Given the description of an element on the screen output the (x, y) to click on. 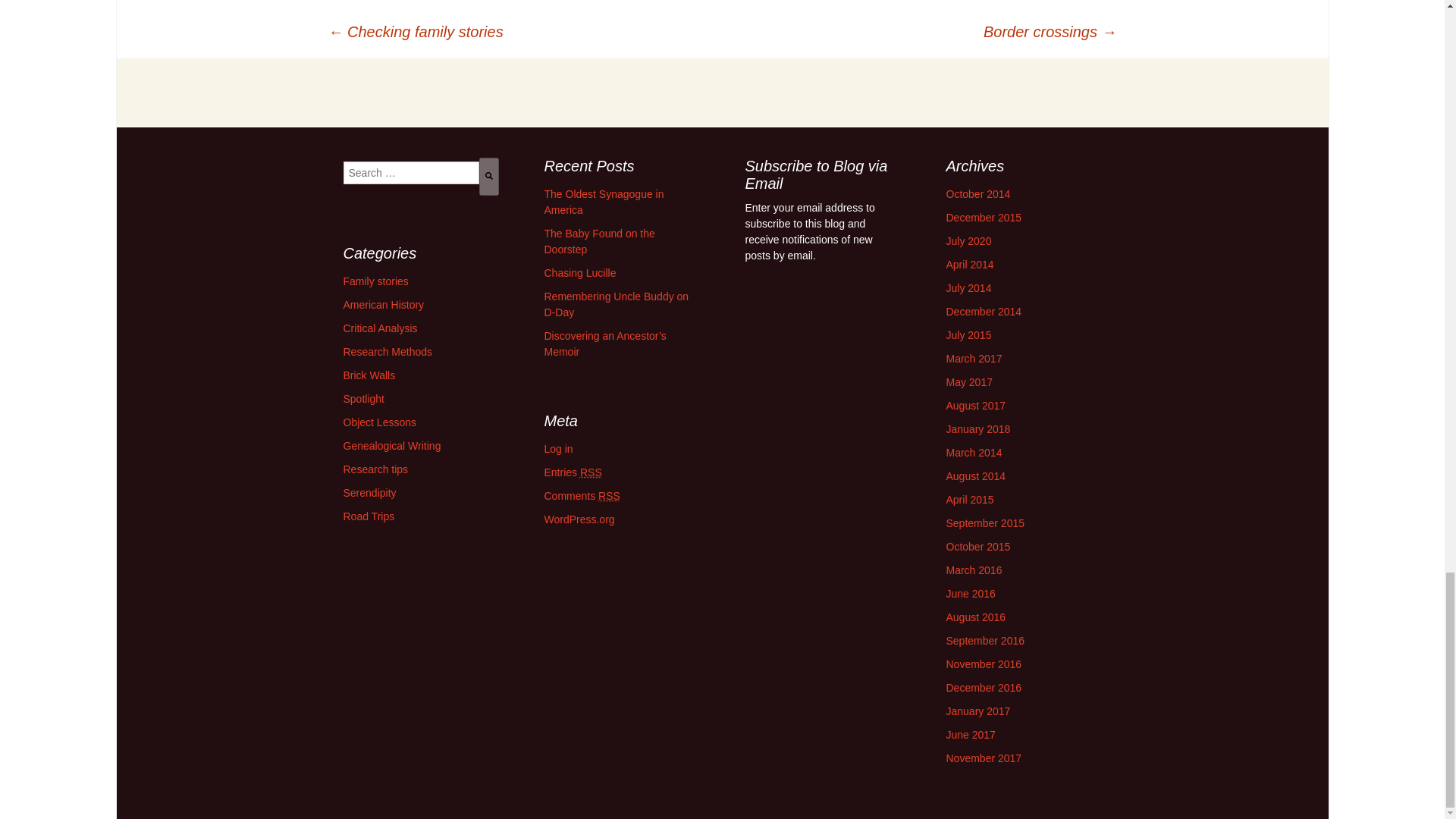
Really Simple Syndication (590, 472)
Really Simple Syndication (609, 495)
